Given the description of an element on the screen output the (x, y) to click on. 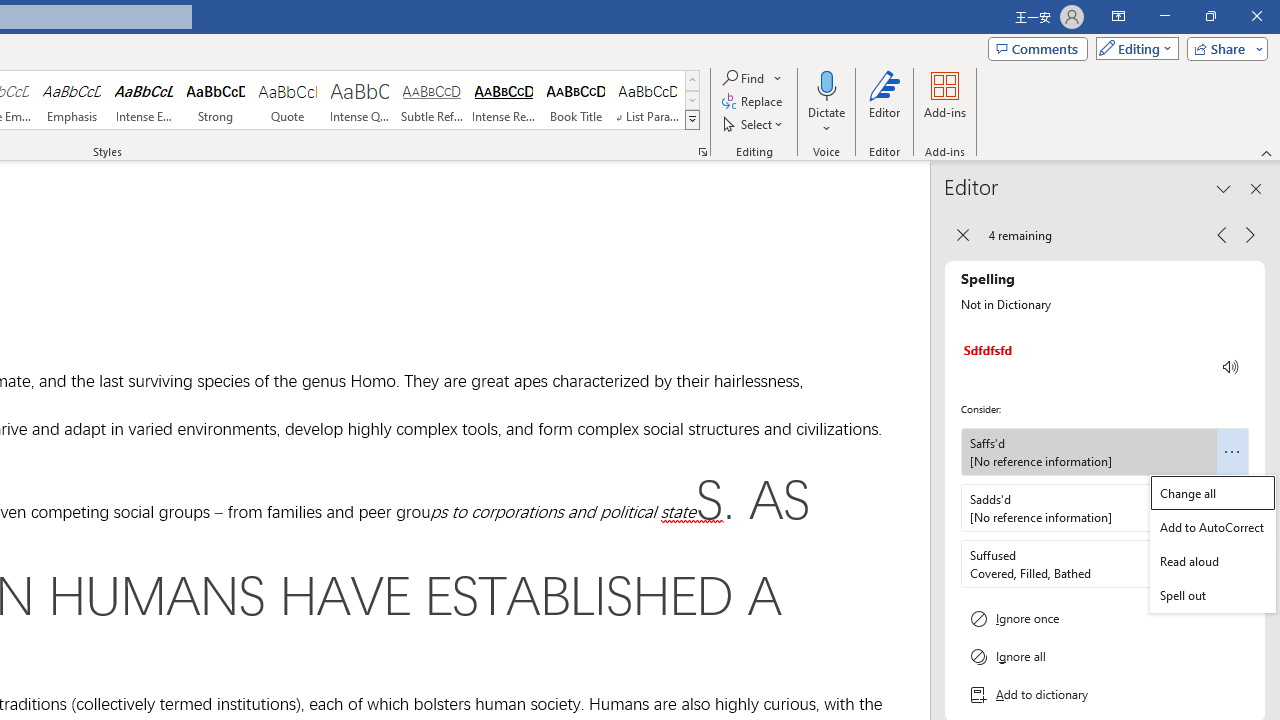
Emphasis (71, 100)
Quote (287, 100)
Intense Reference (504, 100)
Intense Emphasis (143, 100)
